Given the description of an element on the screen output the (x, y) to click on. 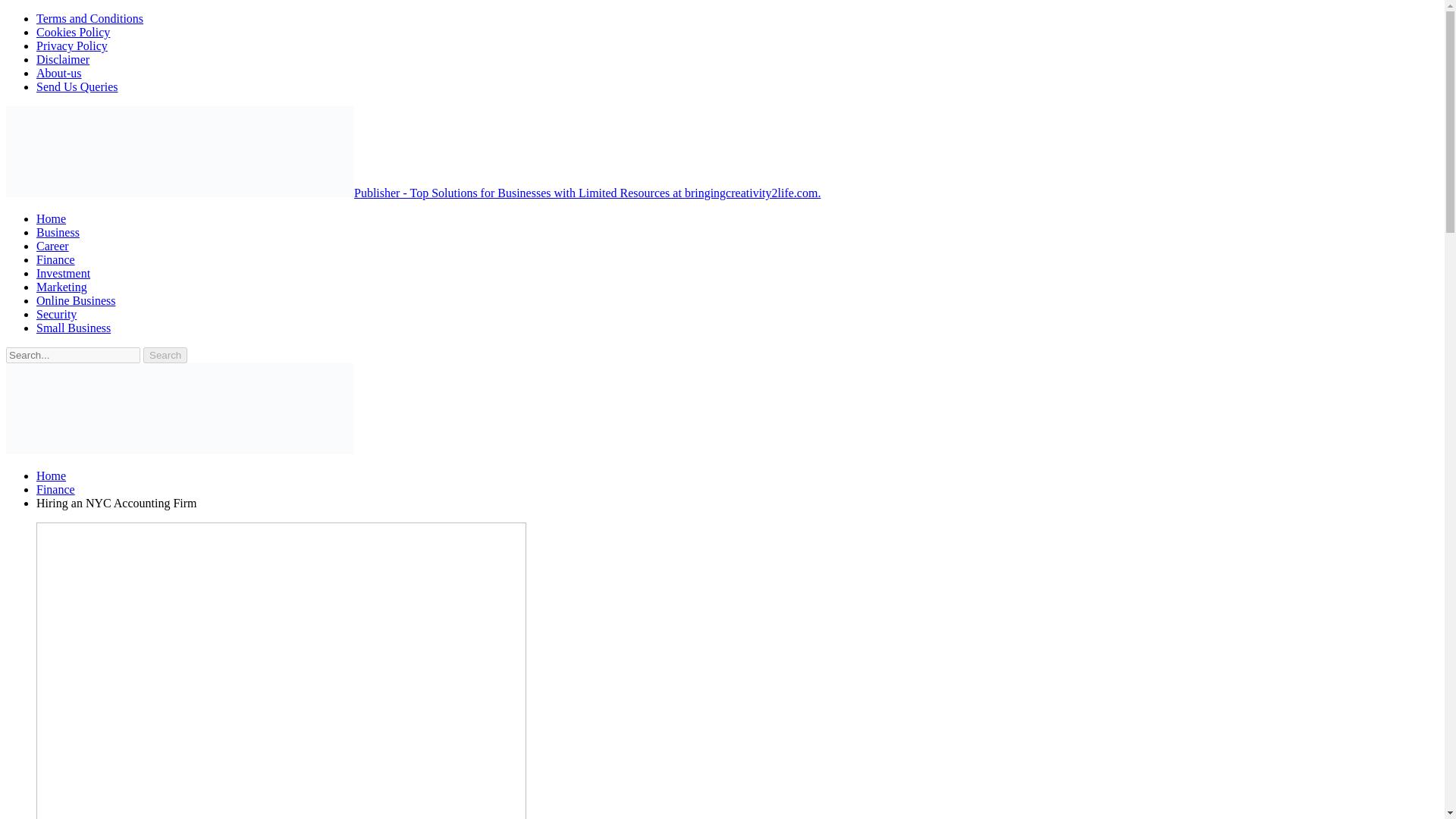
Cookies Policy (73, 31)
Search for: (72, 355)
Search (164, 355)
Search (164, 355)
Search (164, 355)
Business (58, 232)
Send Us Queries (76, 86)
Investment (63, 273)
Home (50, 475)
Terms and Conditions (89, 18)
Security (56, 314)
Online Business (75, 300)
About-us (58, 72)
Home (50, 218)
